Given the description of an element on the screen output the (x, y) to click on. 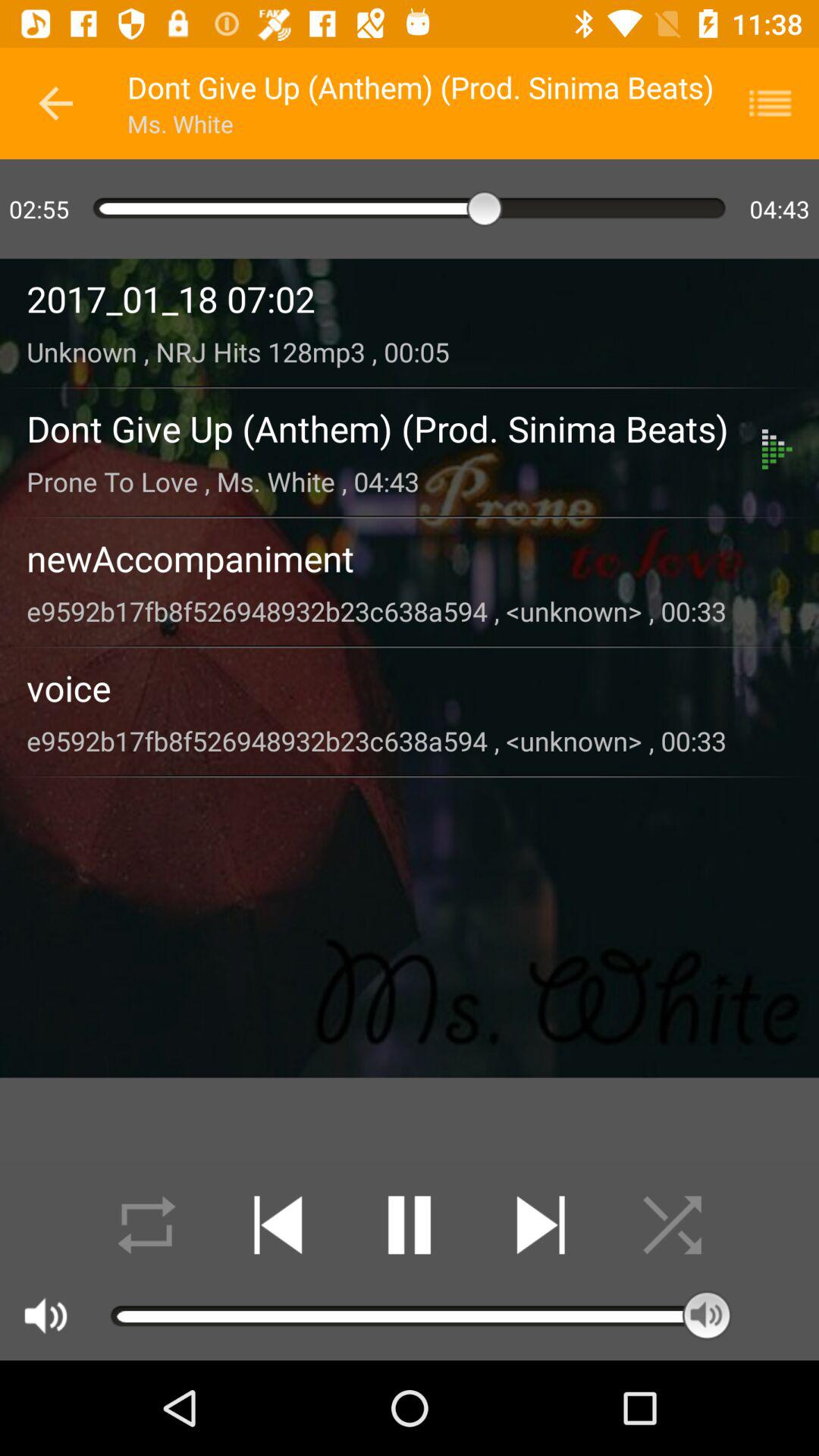
bring up playlist (779, 103)
